Given the description of an element on the screen output the (x, y) to click on. 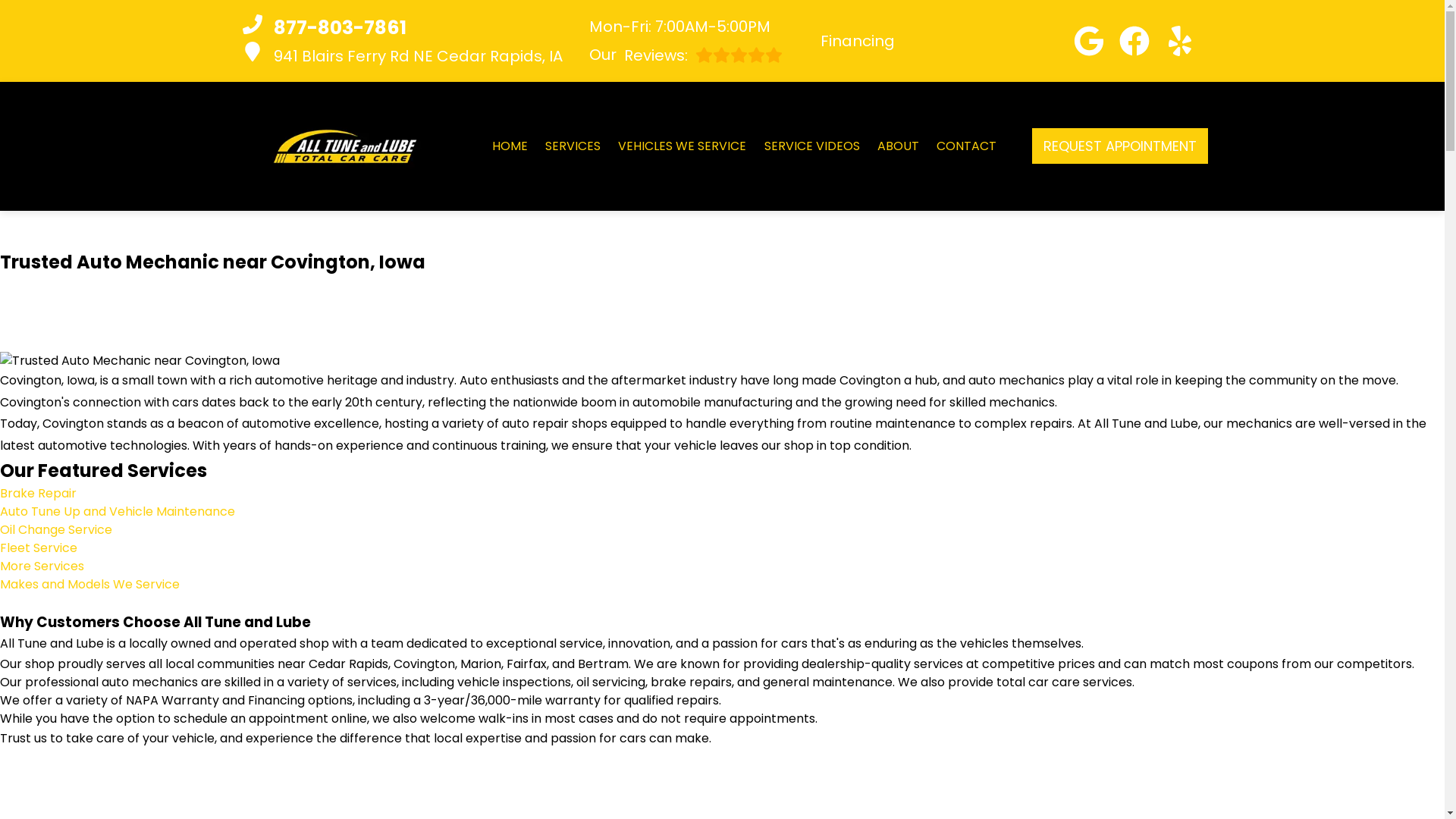
VEHICLES WE SERVICE (681, 146)
Financing (858, 40)
Google My Business URL (1088, 40)
Call All Tune and Lube Total Car Care (402, 27)
Services (571, 146)
All Tune and Lube Total Car Care (343, 146)
HOME (509, 146)
Facebook URL (1134, 40)
877-803-7861 (402, 27)
Yelp URL (1179, 40)
Home (509, 146)
Our Reviews (402, 54)
Financing (684, 54)
